Given the description of an element on the screen output the (x, y) to click on. 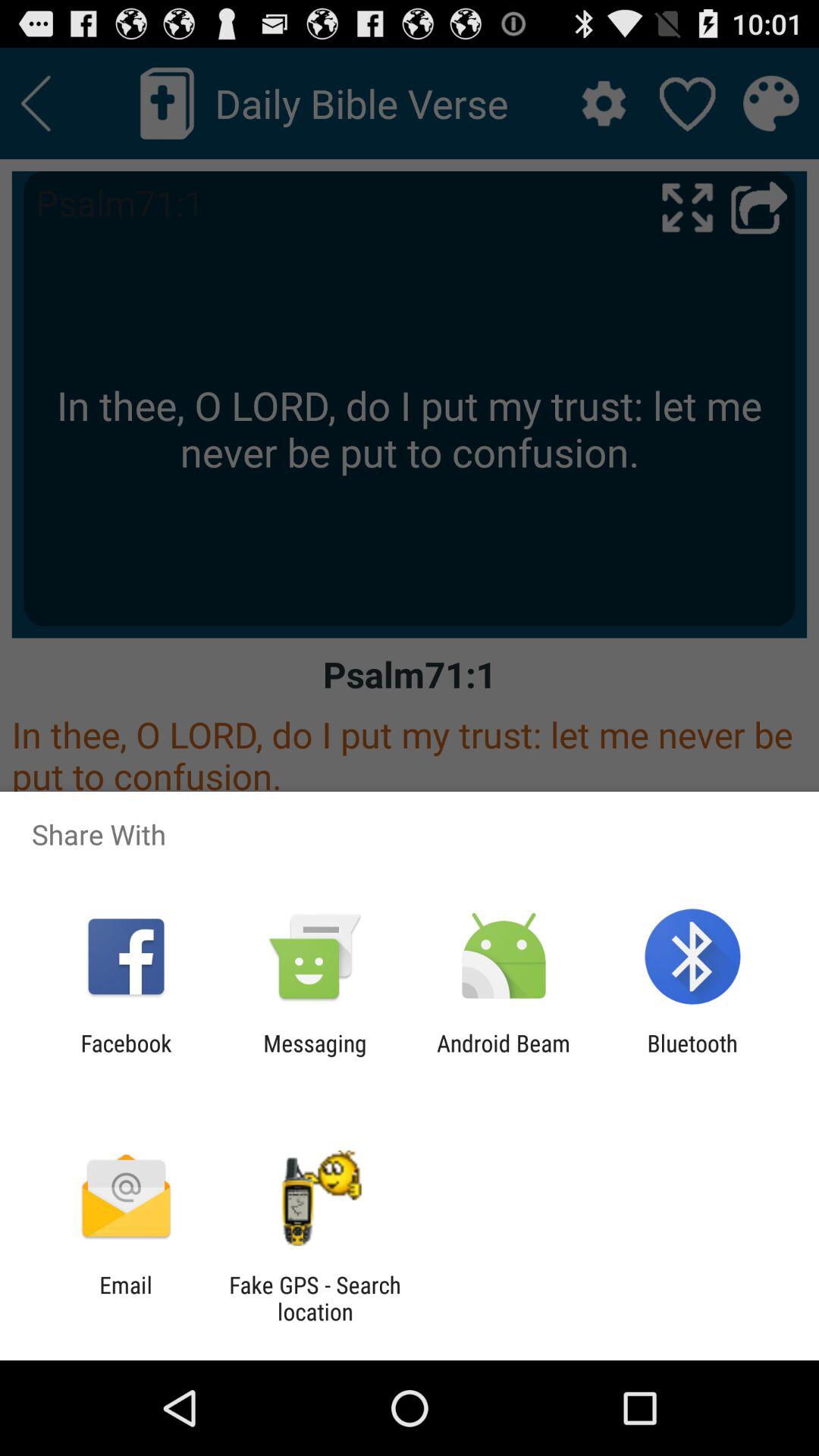
choose app next to the messaging icon (125, 1056)
